Given the description of an element on the screen output the (x, y) to click on. 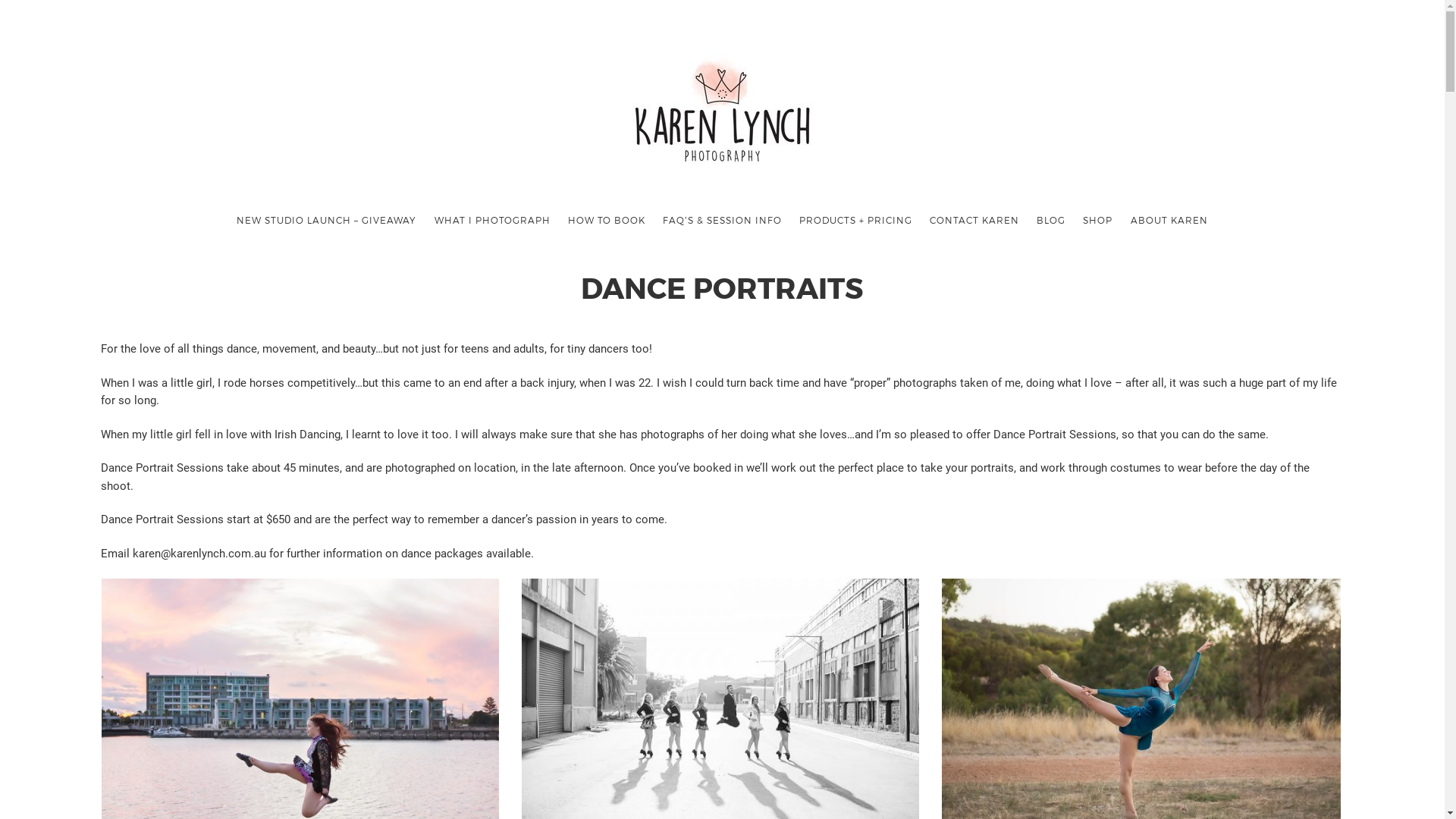
BLOG Element type: text (1051, 220)
CONTACT KAREN Element type: text (974, 220)
PRODUCTS + PRICING Element type: text (855, 220)
SHOP Element type: text (1098, 220)
HOW TO BOOK Element type: text (606, 220)
ABOUT KAREN Element type: text (1168, 220)
WHAT I PHOTOGRAPH Element type: text (491, 220)
